Given the description of an element on the screen output the (x, y) to click on. 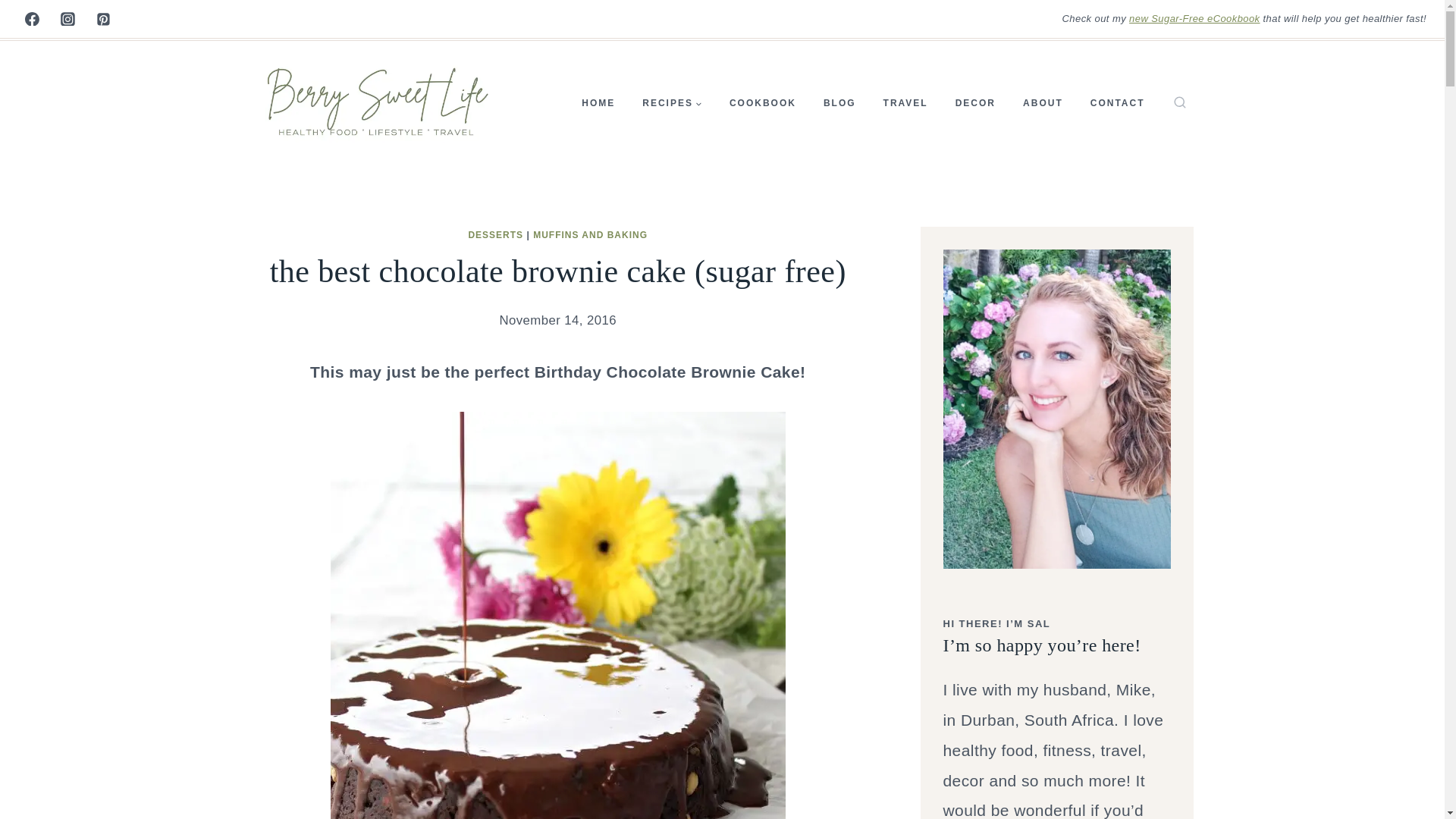
ABOUT (1043, 103)
CONTACT (1117, 103)
MUFFINS AND BAKING (589, 234)
HOME (597, 103)
TRAVEL (905, 103)
BLOG (839, 103)
DECOR (975, 103)
RECIPES (672, 103)
COOKBOOK (762, 103)
DESSERTS (494, 234)
